Given the description of an element on the screen output the (x, y) to click on. 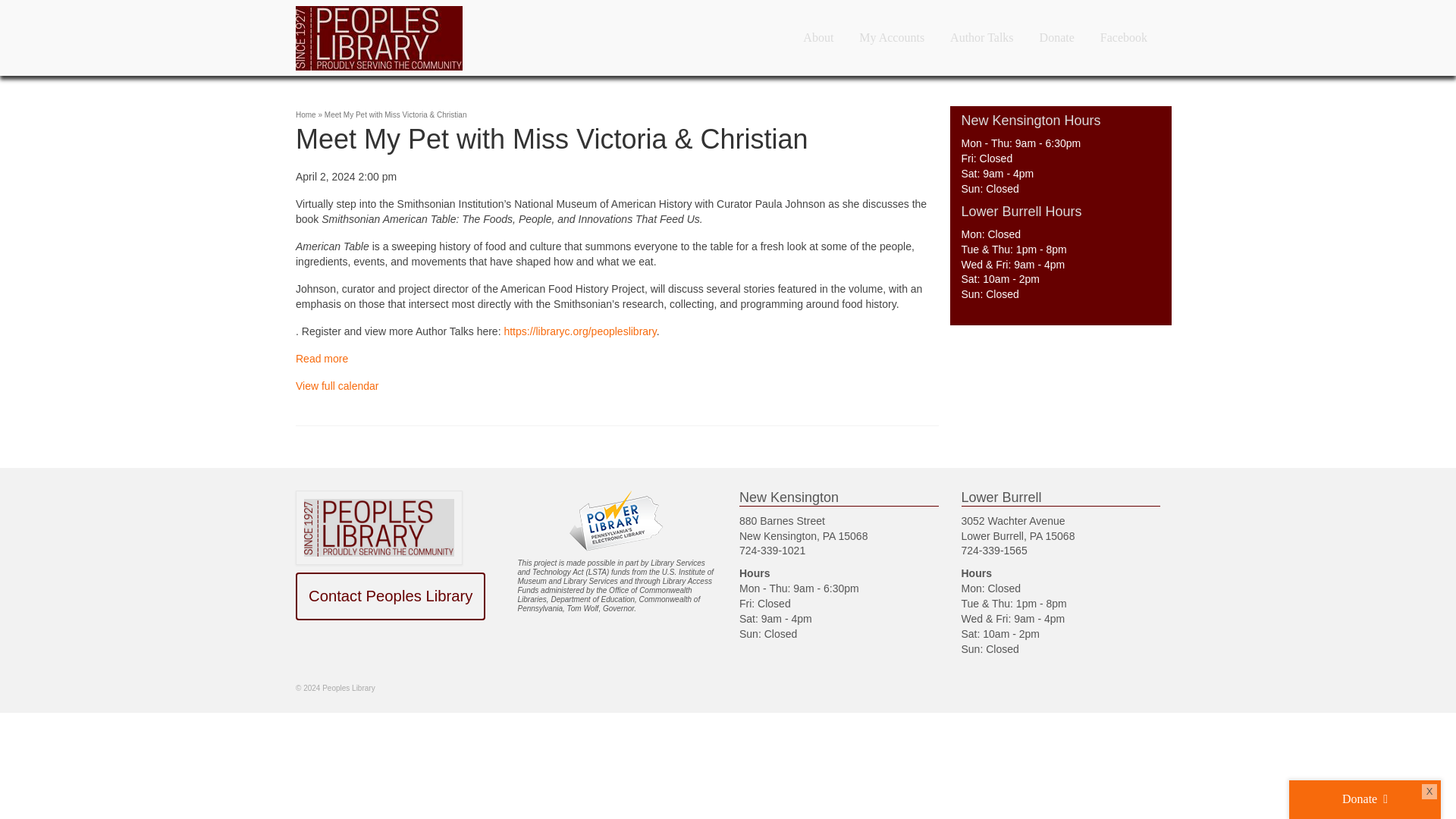
About (817, 38)
Read more (321, 358)
Facebook (1123, 38)
Contact Peoples Library (389, 595)
Peoples Library (432, 38)
My Accounts (891, 38)
Donate (1056, 38)
Author Talks (981, 38)
Home (305, 114)
View full calendar (336, 386)
